Given the description of an element on the screen output the (x, y) to click on. 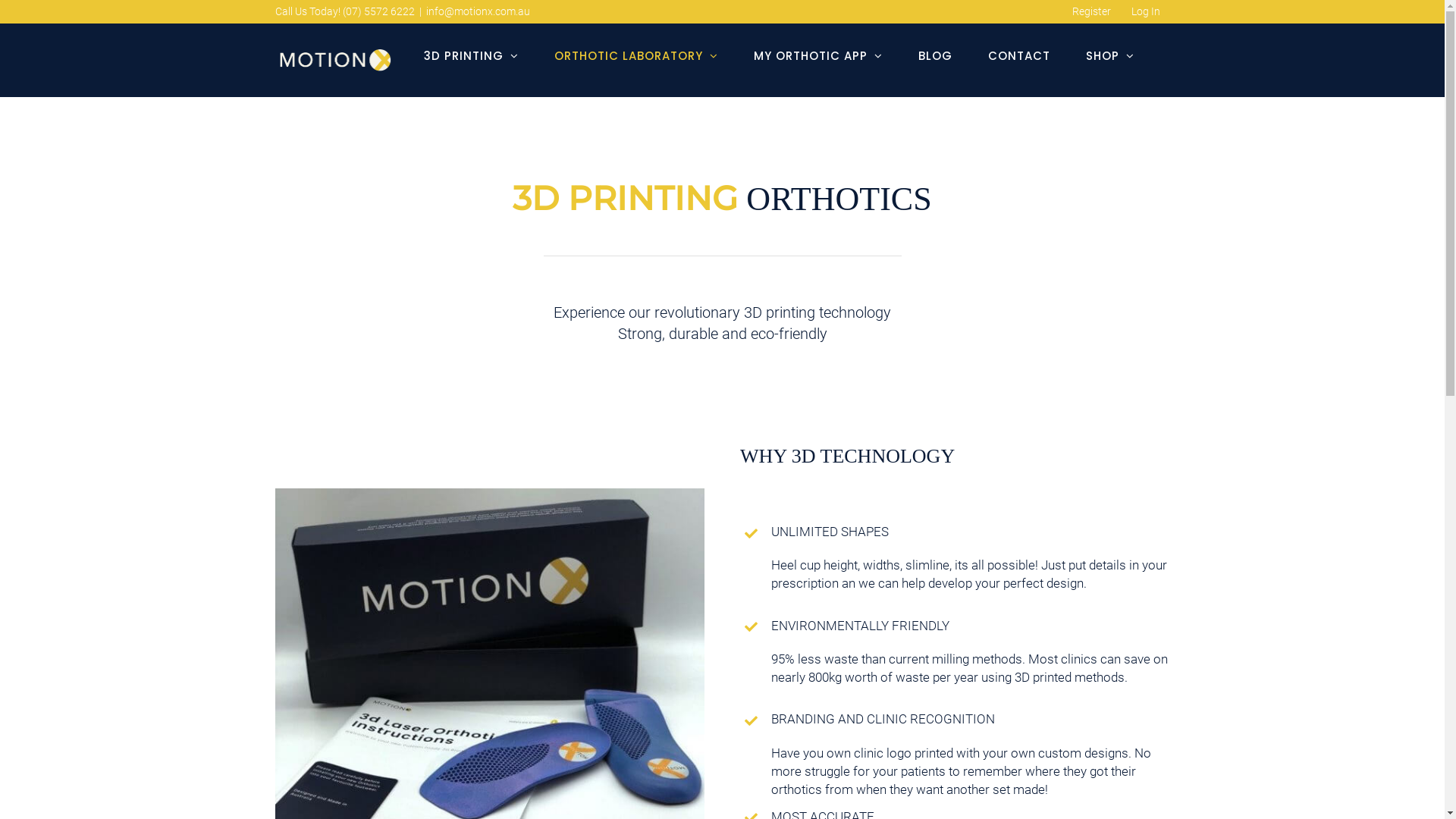
CONTACT Element type: text (1018, 55)
SHOP Element type: text (1109, 55)
Register Element type: text (1090, 11)
info@motionx.com.au Element type: text (478, 11)
3D PRINTING Element type: text (470, 55)
MY ORTHOTIC APP Element type: text (817, 55)
Log In Element type: text (1144, 11)
BLOG Element type: text (934, 55)
clinics Element type: text (1078, 658)
ORTHOTIC LABORATORY Element type: text (635, 55)
